Given the description of an element on the screen output the (x, y) to click on. 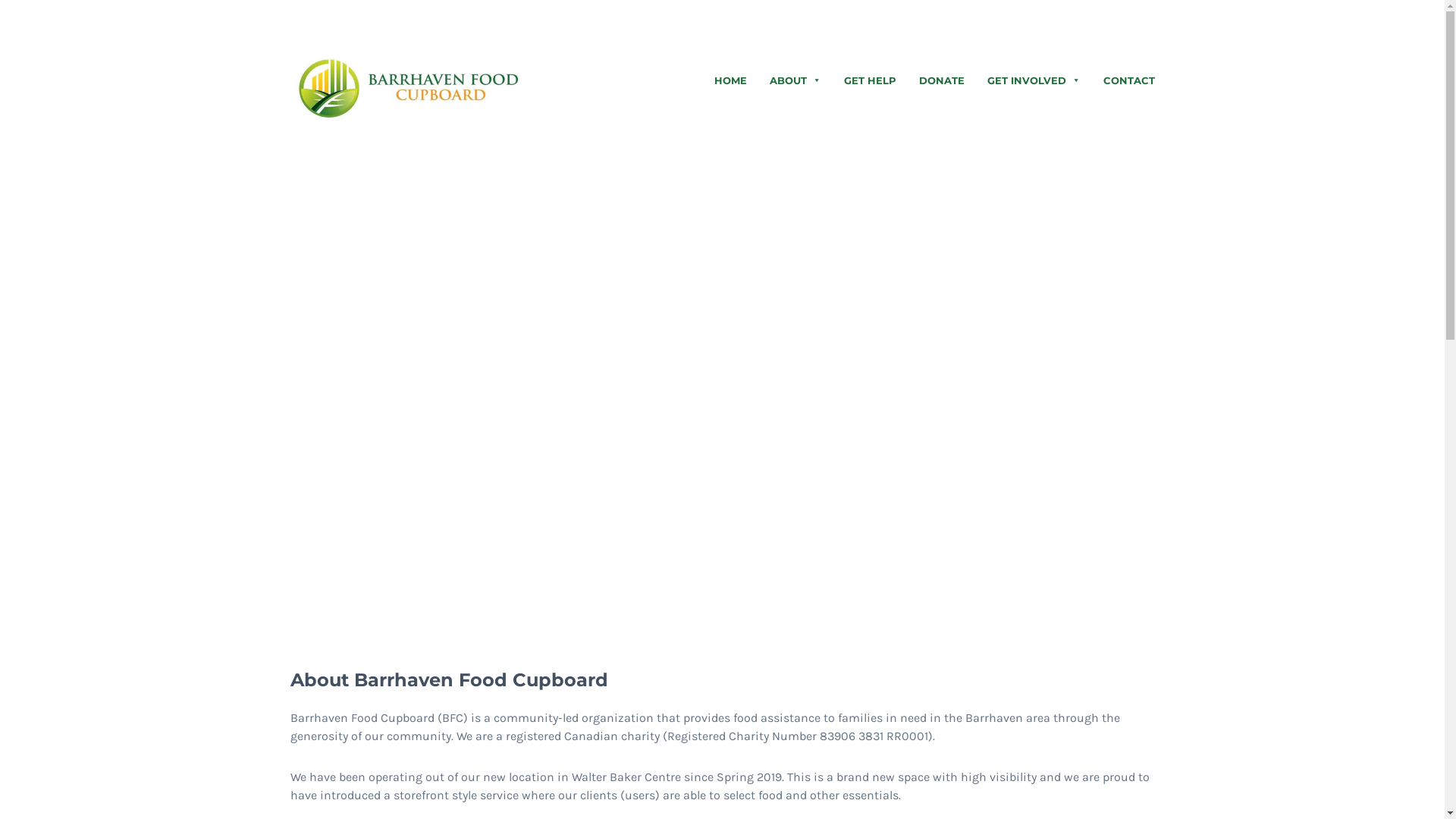
facebook Element type: hover (1074, 18)
instagram Element type: hover (1142, 18)
linkedin Element type: hover (1119, 18)
CONTACT Element type: text (1129, 80)
HOME Element type: text (729, 80)
ABOUT Element type: text (795, 80)
Barrhaven Food Element type: hover (410, 88)
twitter Element type: hover (1096, 18)
DONATE Element type: text (940, 80)
GET HELP Element type: text (869, 80)
GET INVOLVED Element type: text (1033, 80)
